Given the description of an element on the screen output the (x, y) to click on. 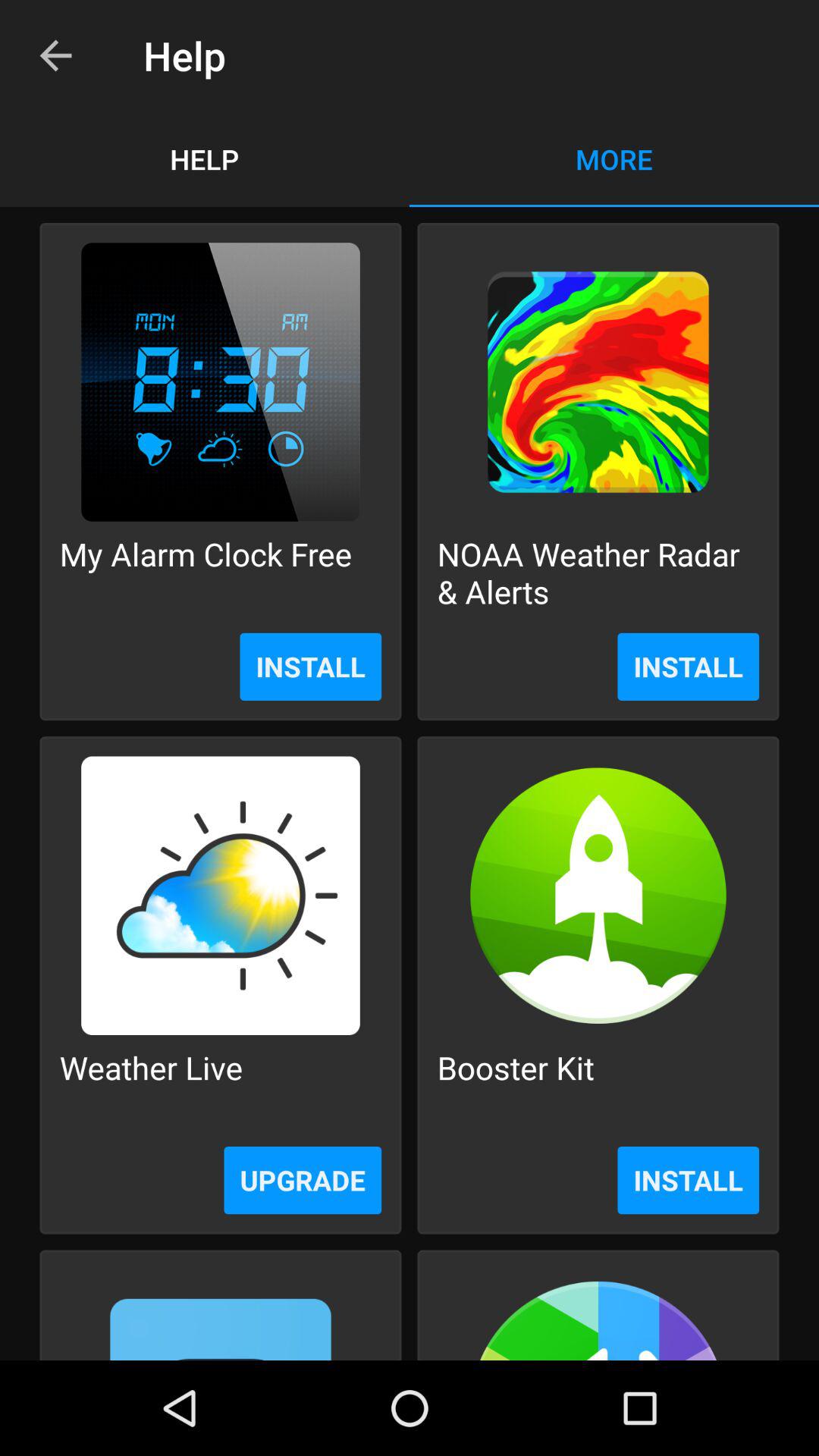
turn on icon above install item (205, 572)
